Given the description of an element on the screen output the (x, y) to click on. 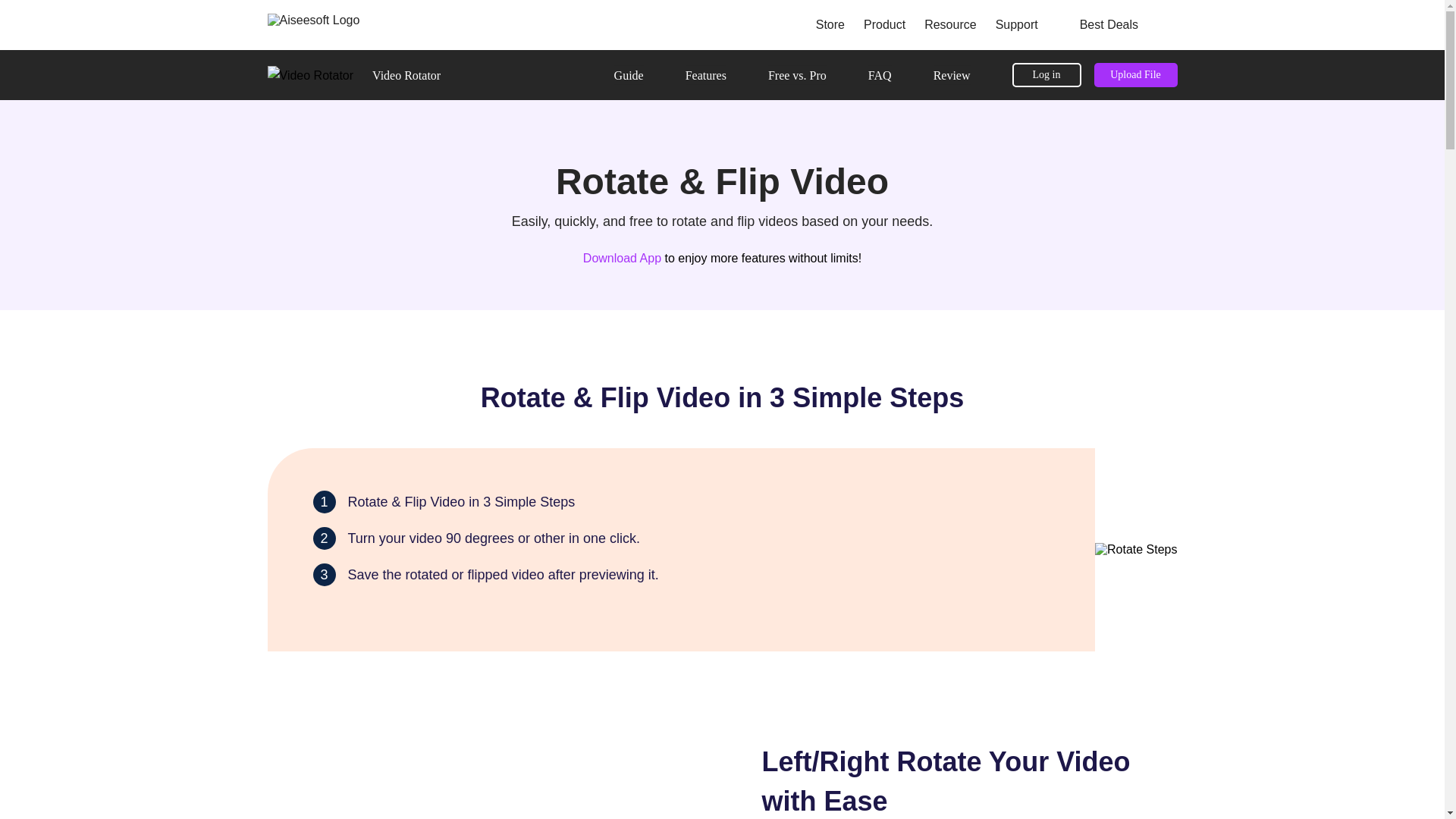
FAQ (879, 74)
Product (886, 25)
Review (952, 74)
Guide (628, 74)
Store (832, 25)
Best Deals (1099, 25)
Free vs. Pro (797, 74)
Download App (622, 257)
Log in (1045, 74)
Features (705, 74)
Resource (952, 25)
Video Rotator (406, 74)
Support (1018, 25)
Upload File (1134, 74)
